Given the description of an element on the screen output the (x, y) to click on. 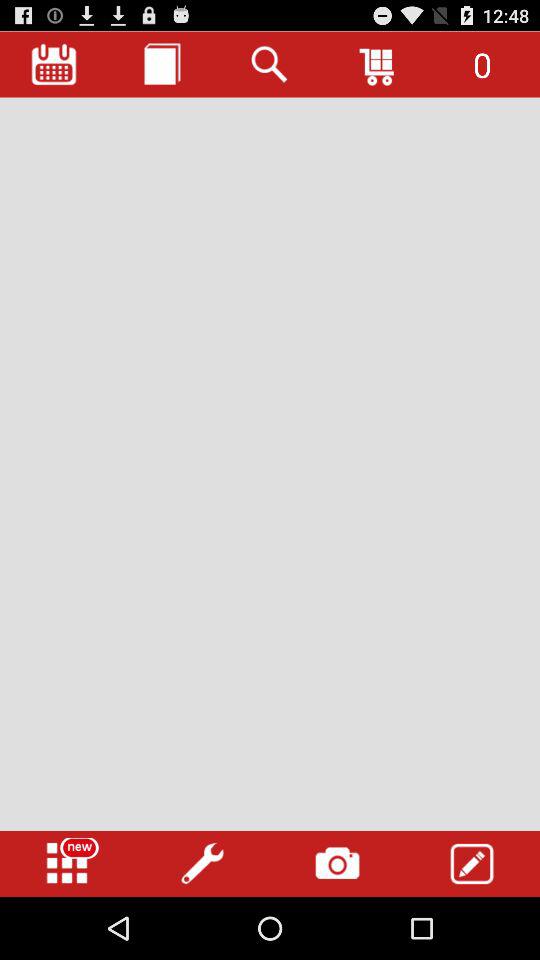
open shopping cart (377, 64)
